Given the description of an element on the screen output the (x, y) to click on. 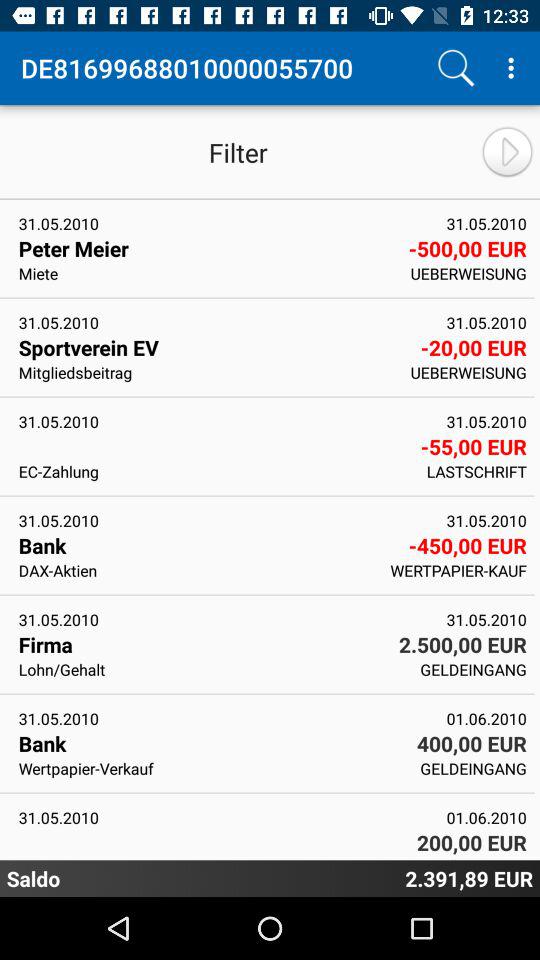
search (455, 67)
